Given the description of an element on the screen output the (x, y) to click on. 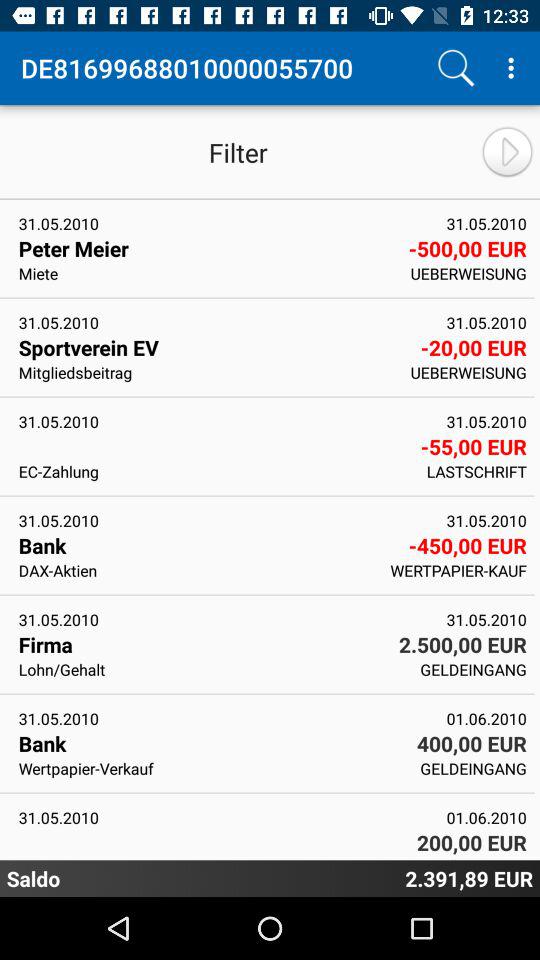
search (455, 67)
